Given the description of an element on the screen output the (x, y) to click on. 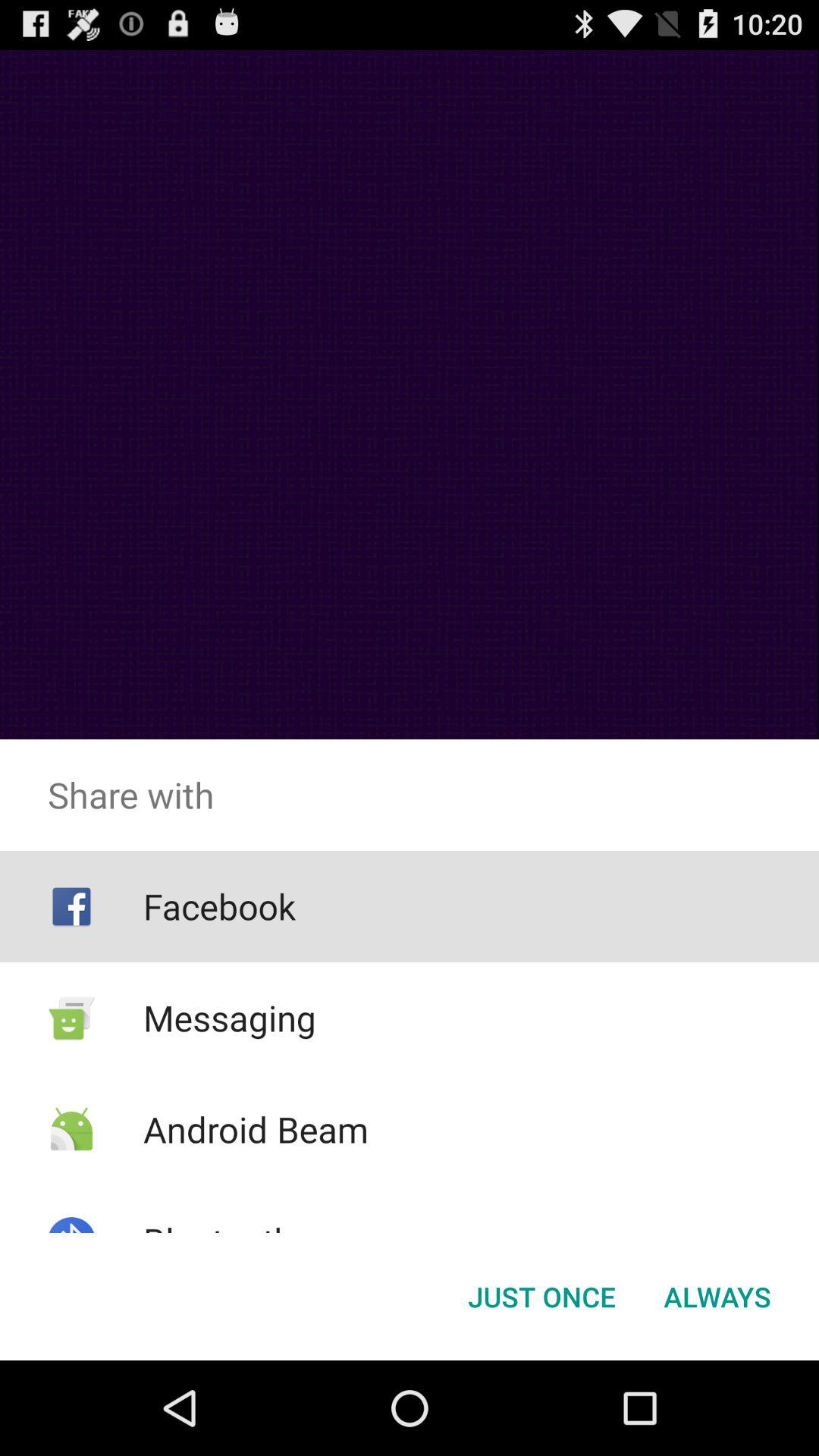
open button to the left of the always (541, 1296)
